Given the description of an element on the screen output the (x, y) to click on. 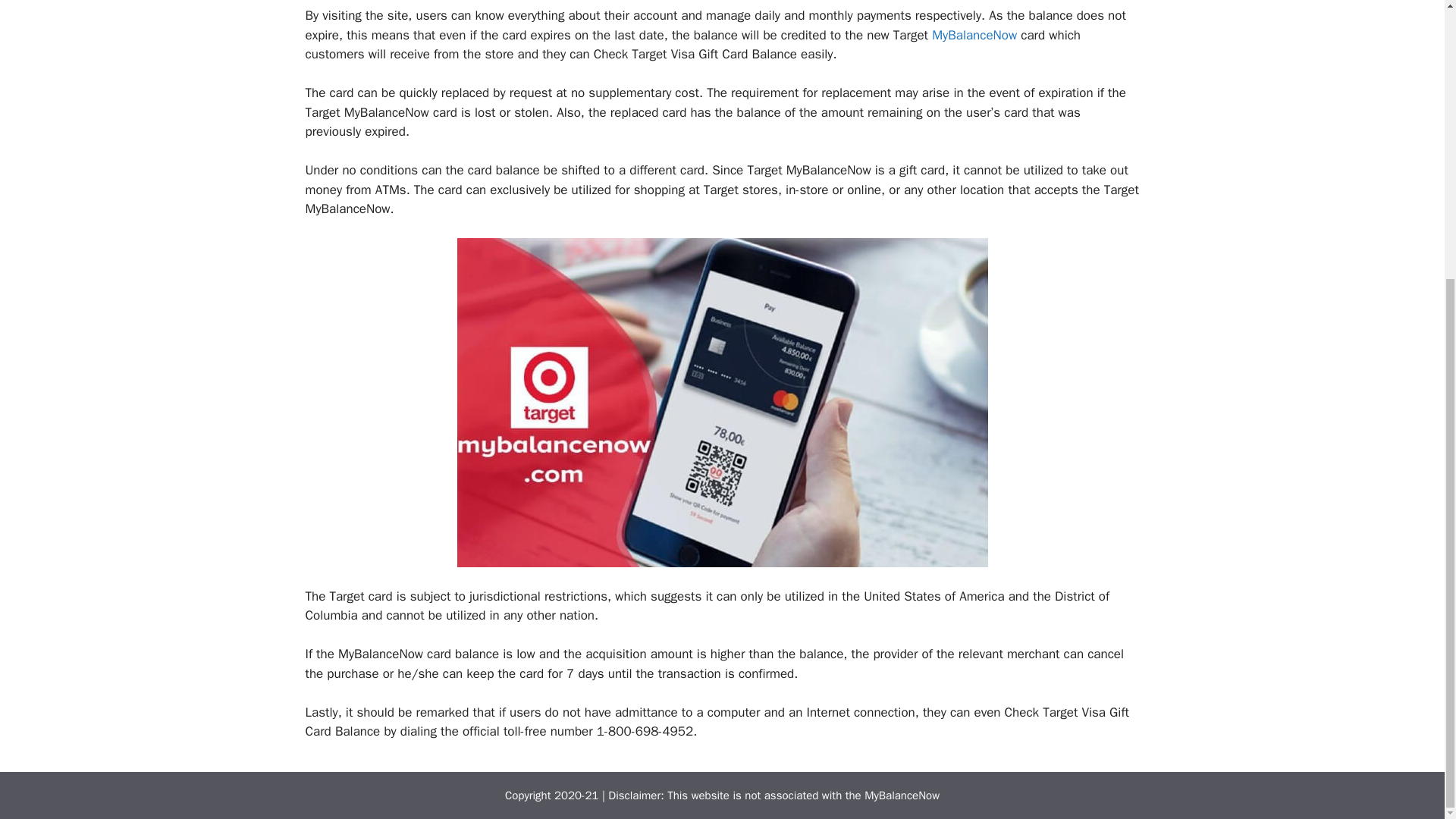
MyBalanceNow (901, 795)
MyBalanceNow (973, 35)
